Given the description of an element on the screen output the (x, y) to click on. 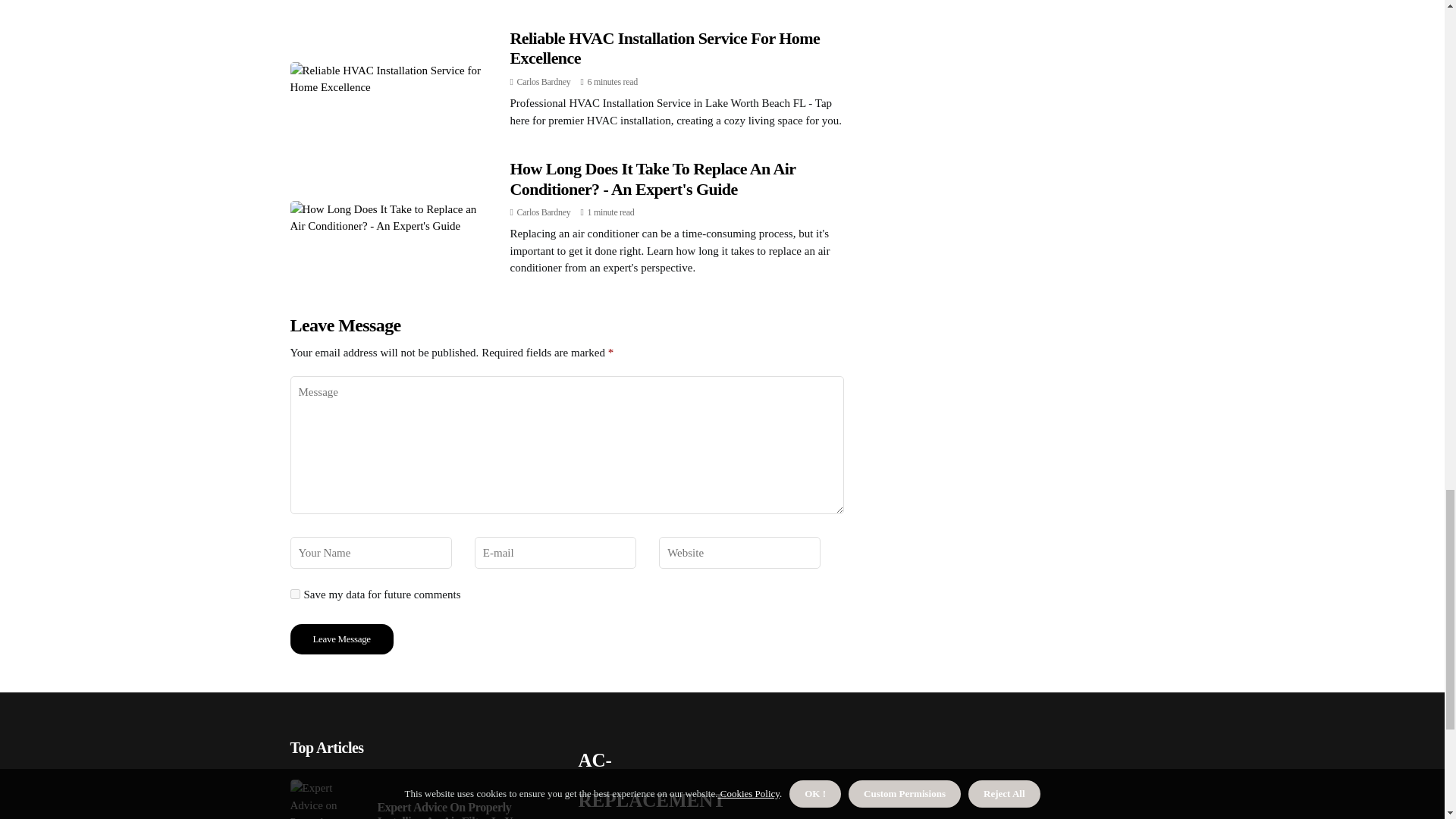
Posts by Carlos Bardney (543, 81)
yes (294, 593)
Carlos Bardney (543, 212)
Leave Message (341, 639)
Posts by Carlos Bardney (543, 212)
Reliable HVAC Installation Service For Home Excellence (664, 47)
Carlos Bardney (543, 81)
Leave Message (341, 639)
